Given the description of an element on the screen output the (x, y) to click on. 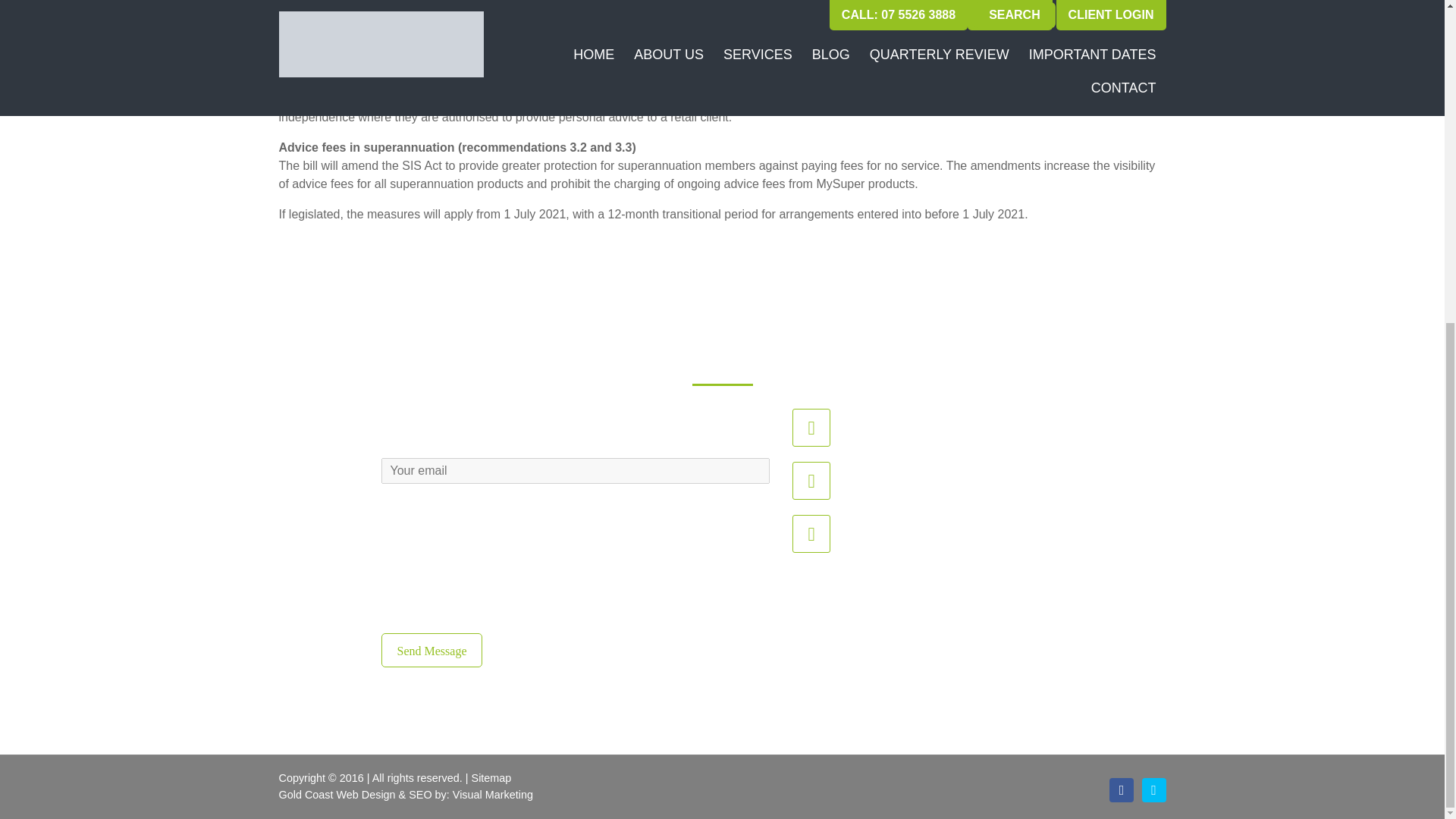
Send Message (430, 650)
Send Message (430, 650)
Sitemap (491, 777)
07 5526 3888 (877, 532)
Visual Marketing (492, 794)
